Given the description of an element on the screen output the (x, y) to click on. 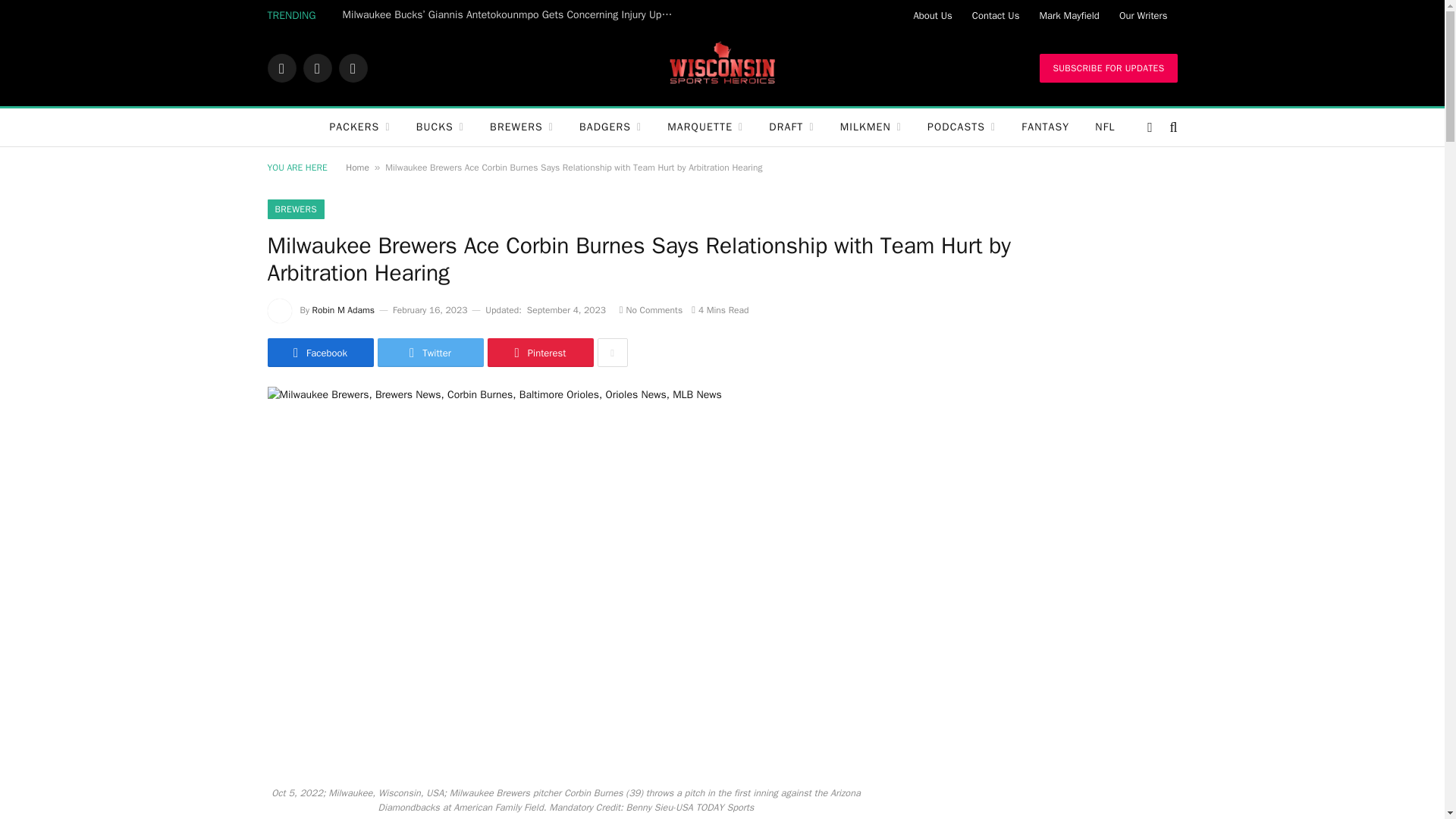
About Us (931, 15)
Switch to Dark Design - easier on eyes. (1149, 127)
Share on Pinterest (539, 352)
Our Writers (1143, 15)
BREWERS (521, 127)
WI Sports Heroics (721, 68)
SUBSCRIBE FOR UPDATES (1107, 68)
RSS (351, 68)
Posts by Robin M Adams (343, 309)
PACKERS (359, 127)
Facebook (280, 68)
Contact Us (995, 15)
Mark Mayfield (1068, 15)
BUCKS (440, 127)
Share on Facebook (319, 352)
